Given the description of an element on the screen output the (x, y) to click on. 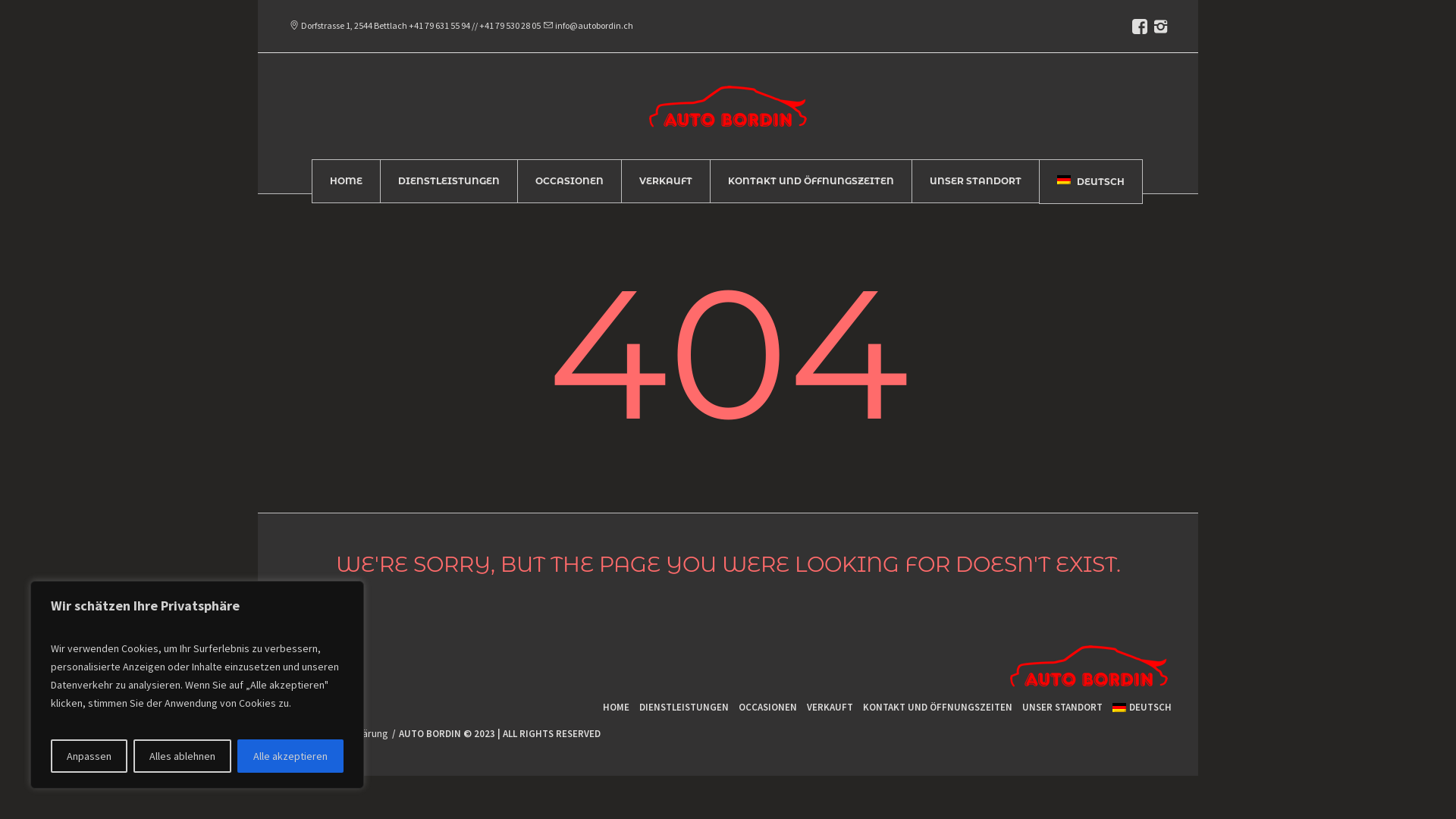
DEUTSCH Element type: text (1141, 707)
Instragram Element type: hover (1159, 26)
Dorfstrasse 1, 2544 Bettlach Element type: text (354, 25)
Instragram Element type: hover (327, 655)
Anpassen Element type: text (88, 755)
+41 79 631 55 94 Element type: text (439, 25)
UNSER STANDORT Element type: text (975, 181)
HOME Element type: text (615, 707)
DEUTSCH Element type: text (1090, 181)
DIENSTLEISTUNGEN Element type: text (683, 707)
Alles ablehnen Element type: text (182, 755)
Facebook Element type: hover (298, 655)
VERKAUFT Element type: text (829, 707)
OCCASIONEN Element type: text (767, 707)
OCCASIONEN Element type: text (569, 181)
UNSER STANDORT Element type: text (1062, 707)
DIENSTLEISTUNGEN Element type: text (448, 181)
HOME Element type: text (345, 181)
VERKAUFT Element type: text (665, 181)
Alle akzeptieren Element type: text (290, 755)
+41 79 530 28 05 Element type: text (509, 25)
info@autobordin.ch Element type: text (587, 25)
Facebook Element type: hover (1139, 26)
AUTO BORDIN seit 1983 Element type: hover (1088, 669)
